Given the description of an element on the screen output the (x, y) to click on. 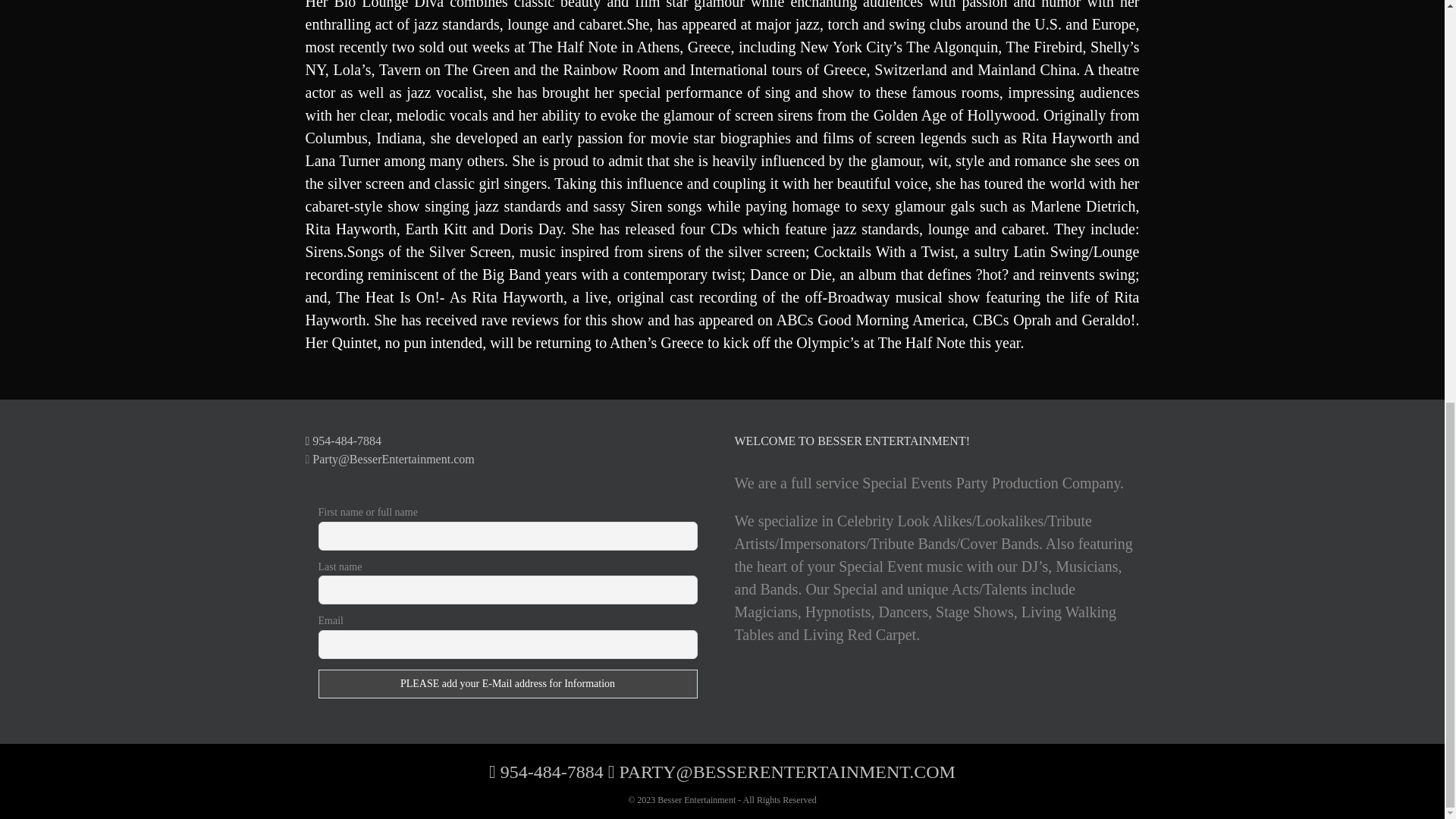
PLEASE add your E-Mail address for Information (507, 683)
